Given the description of an element on the screen output the (x, y) to click on. 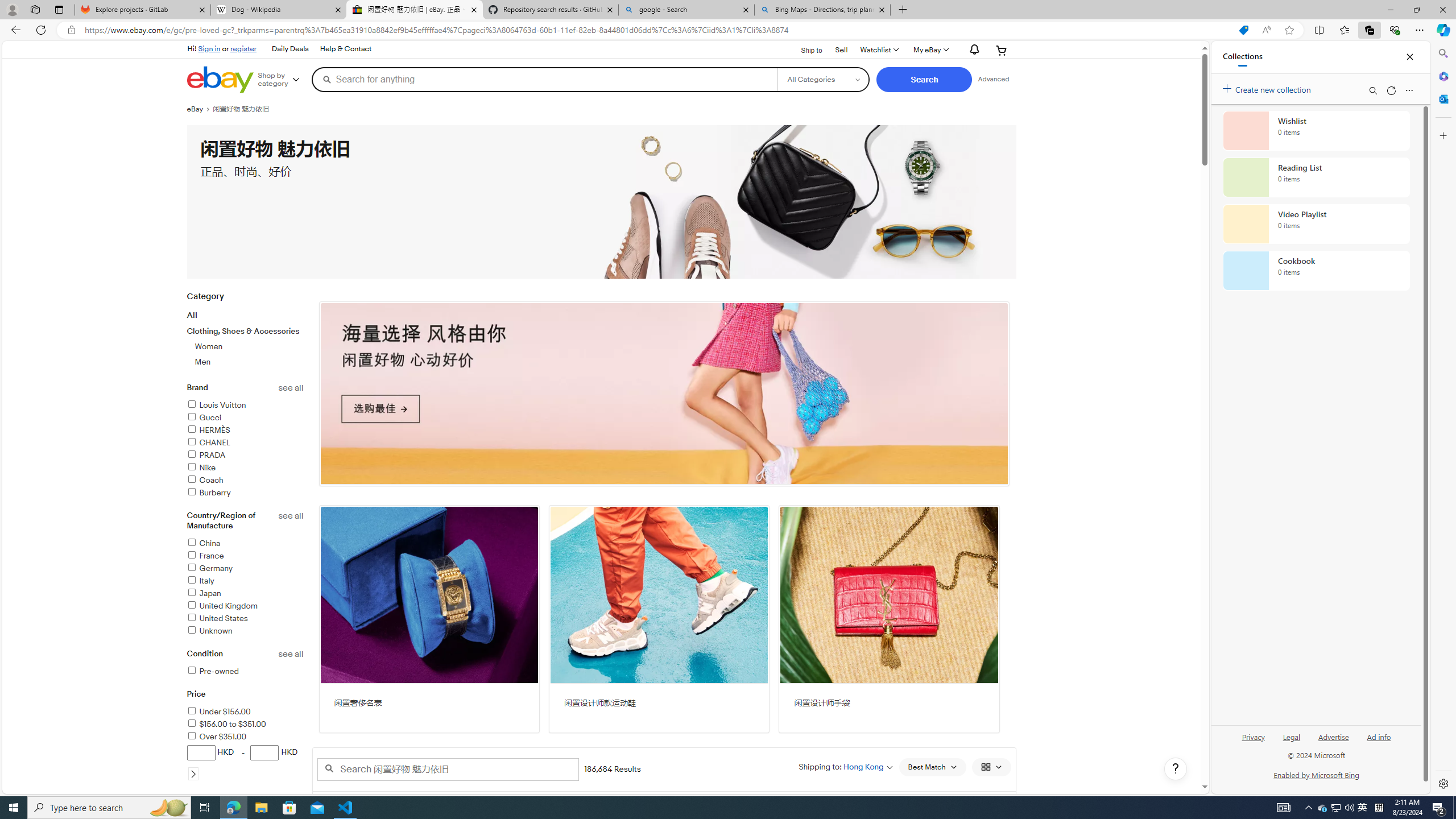
Coach (245, 480)
Expand Cart (1001, 49)
Shipping to: Hong Kong (845, 766)
United States (245, 618)
See all condition refinements (291, 654)
AllClothing, Shoes & AccessoriesWomenMen (245, 337)
Minimum Value (200, 752)
Nike (200, 467)
Search for anything (544, 78)
Video Playlist collection, 0 items (1316, 223)
